Given the description of an element on the screen output the (x, y) to click on. 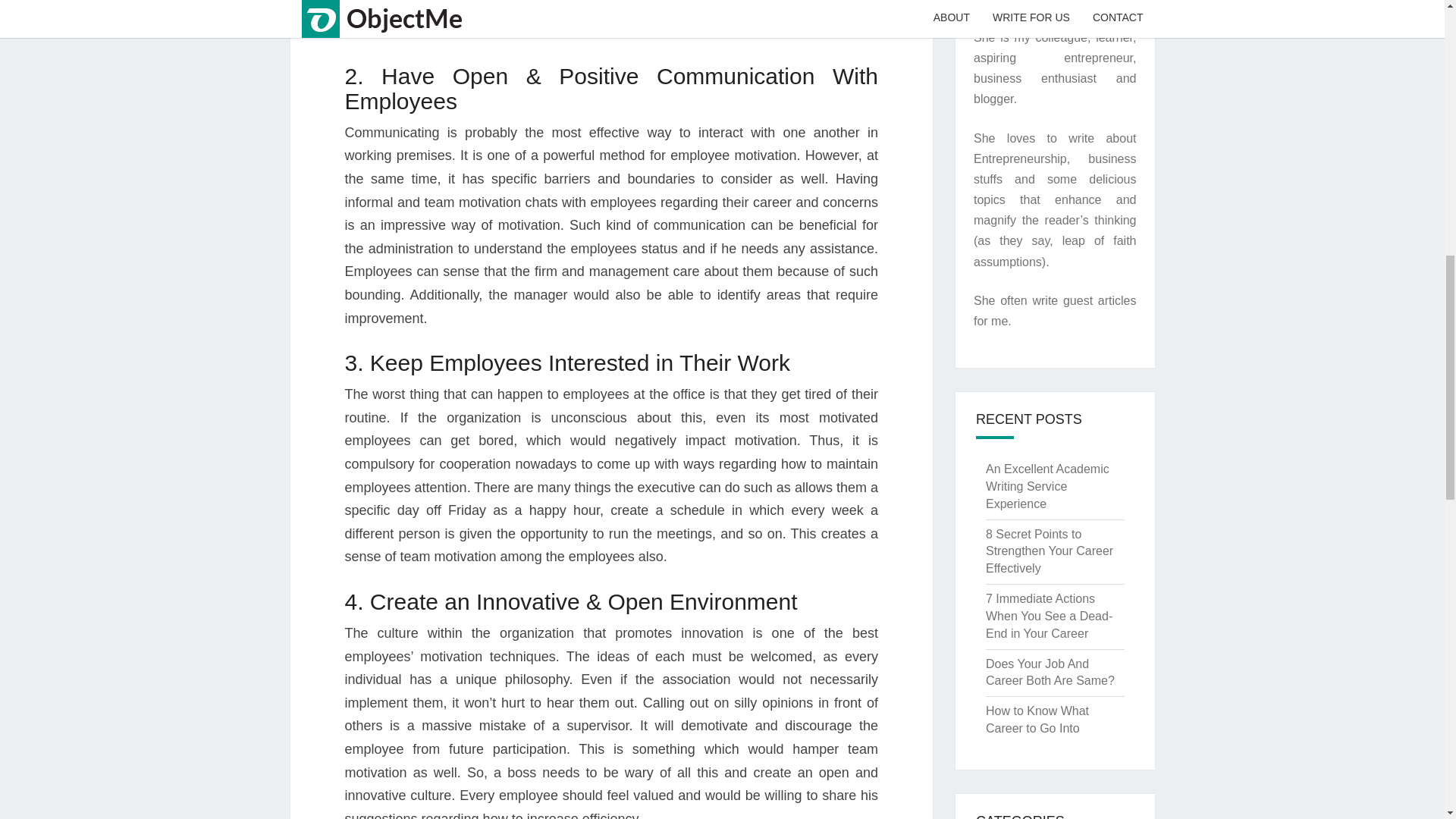
7 Immediate Actions When You See a Dead-End in Your Career (1048, 615)
8 Secret Points to Strengthen Your Career Effectively (1049, 551)
How to Know What Career to Go Into (1037, 719)
An Excellent Academic Writing Service Experience (1047, 486)
Does Your Job And Career Both Are Same? (1050, 672)
